Given the description of an element on the screen output the (x, y) to click on. 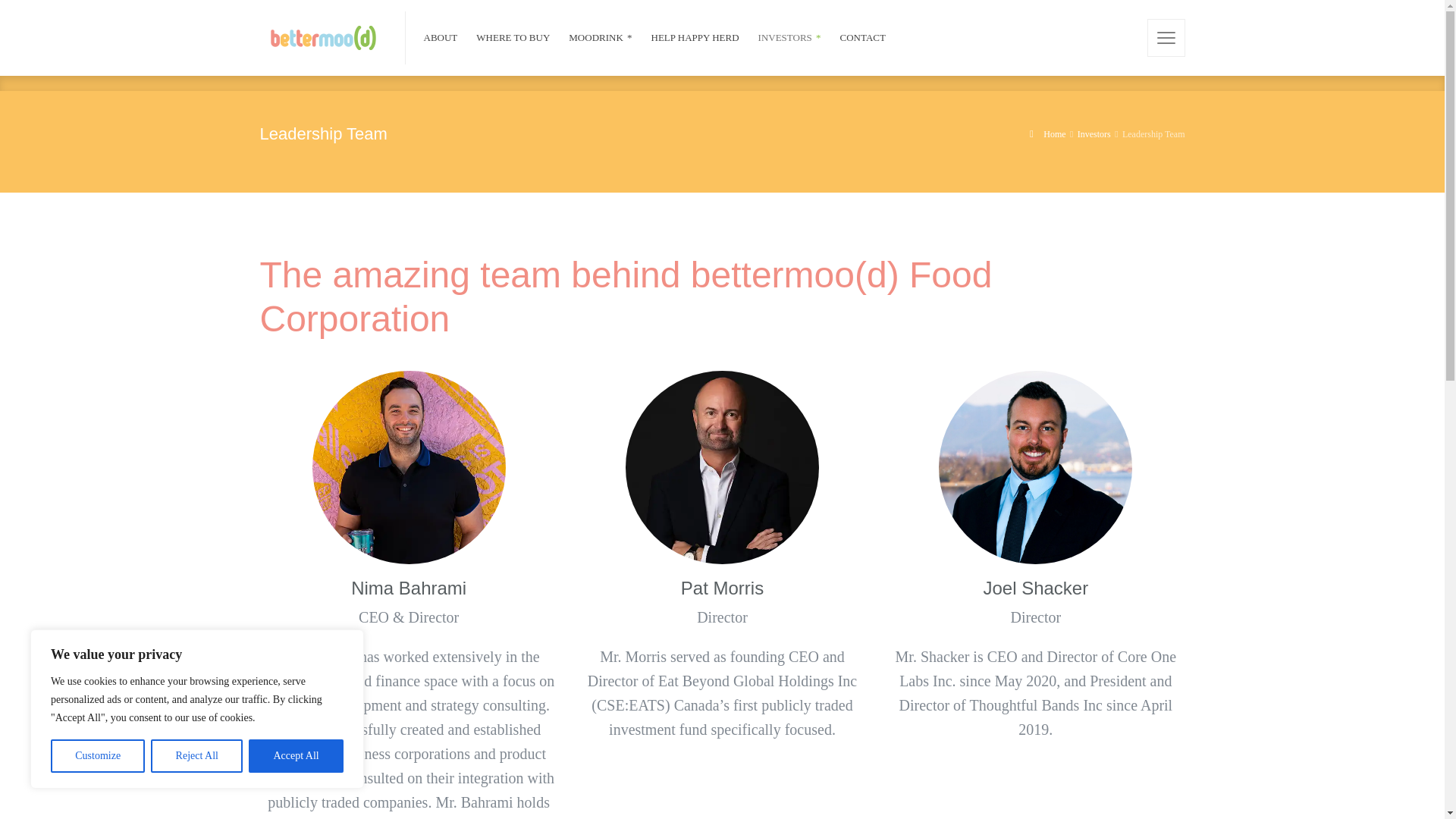
Accept All (295, 756)
MOODRINK (600, 37)
Side Panel (1166, 37)
HELP HAPPY HERD (695, 37)
Customize (97, 756)
WHERE TO BUY (513, 37)
INVESTORS (790, 37)
Reject All (197, 756)
CONTACT (858, 37)
